Given the description of an element on the screen output the (x, y) to click on. 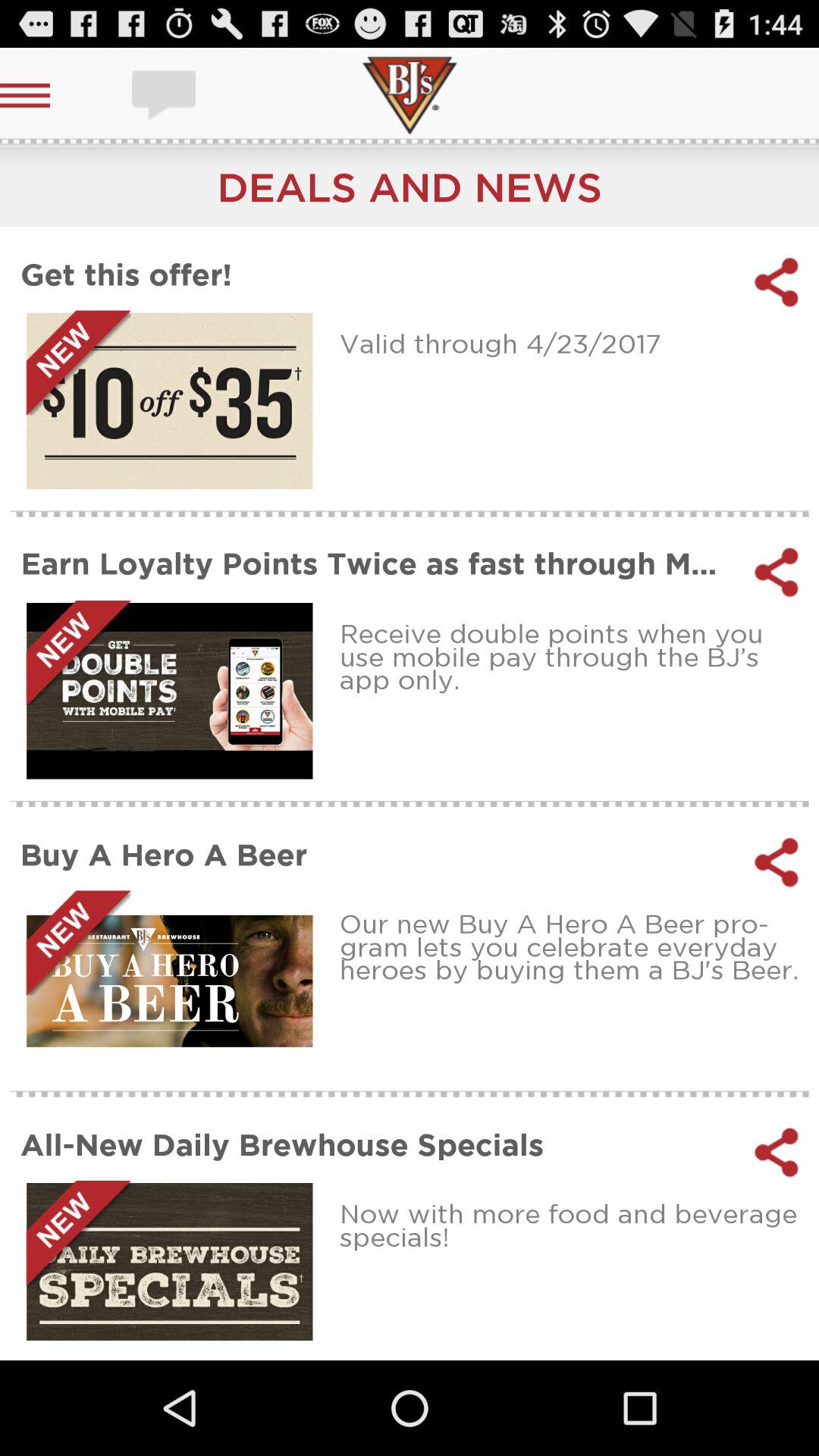
turn on icon above all new daily app (573, 946)
